Given the description of an element on the screen output the (x, y) to click on. 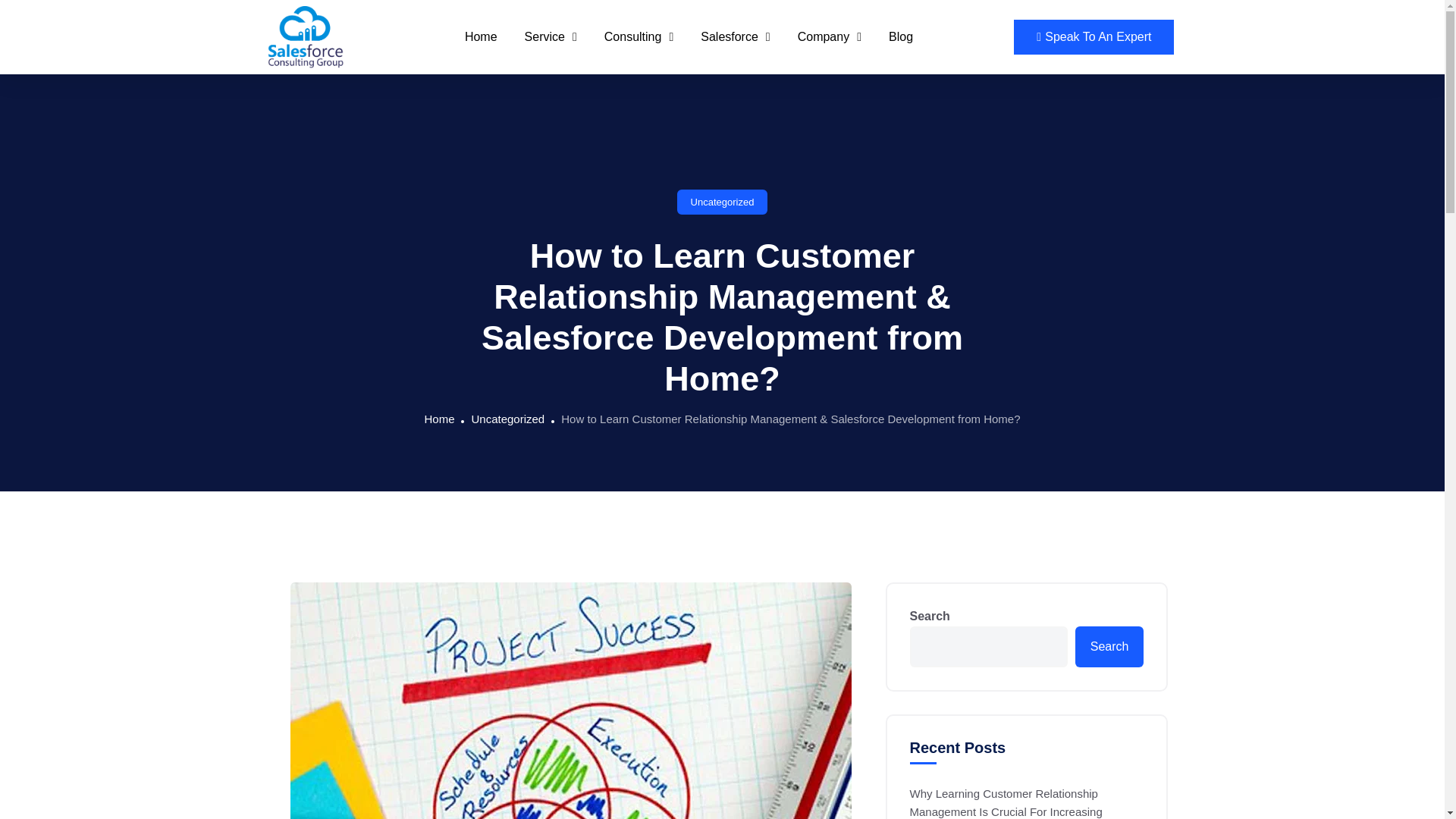
Service (550, 36)
Company (829, 36)
Salesforce (735, 36)
Home (480, 36)
Consulting (638, 36)
